Given the description of an element on the screen output the (x, y) to click on. 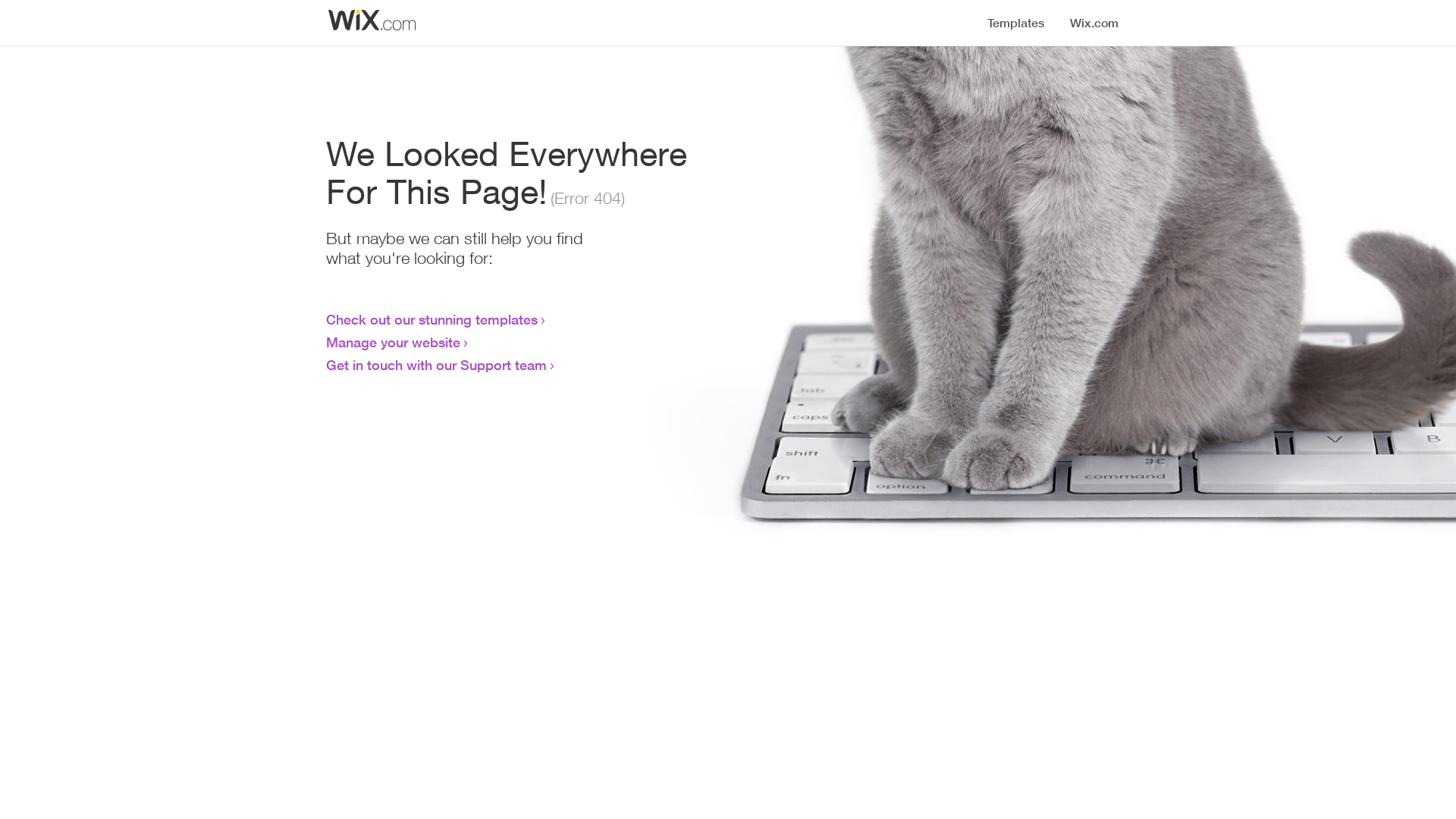
Manage your website Element type: text (393, 341)
Check out our stunning templates Element type: text (431, 318)
Get in touch with our Support team Element type: text (436, 364)
